Given the description of an element on the screen output the (x, y) to click on. 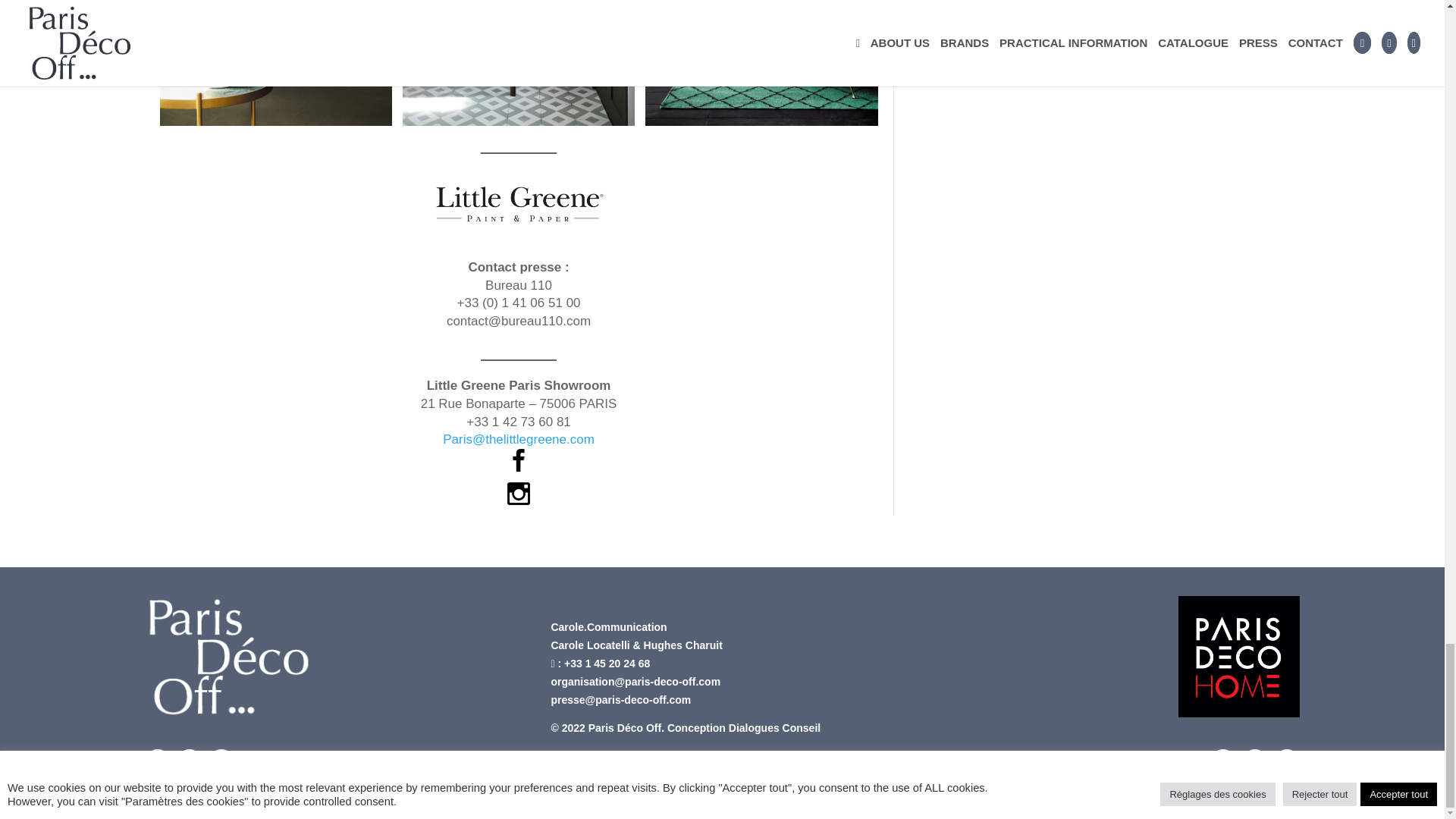
Follow on Instagram (1254, 761)
RVB de base (1238, 656)
Follow on Facebook (157, 761)
Follow on Instagram (189, 761)
Follow on Facebook (1222, 761)
pdo-logo-blanc (228, 656)
Follow on Youtube (220, 761)
Follow on Youtube (1287, 761)
